Given the description of an element on the screen output the (x, y) to click on. 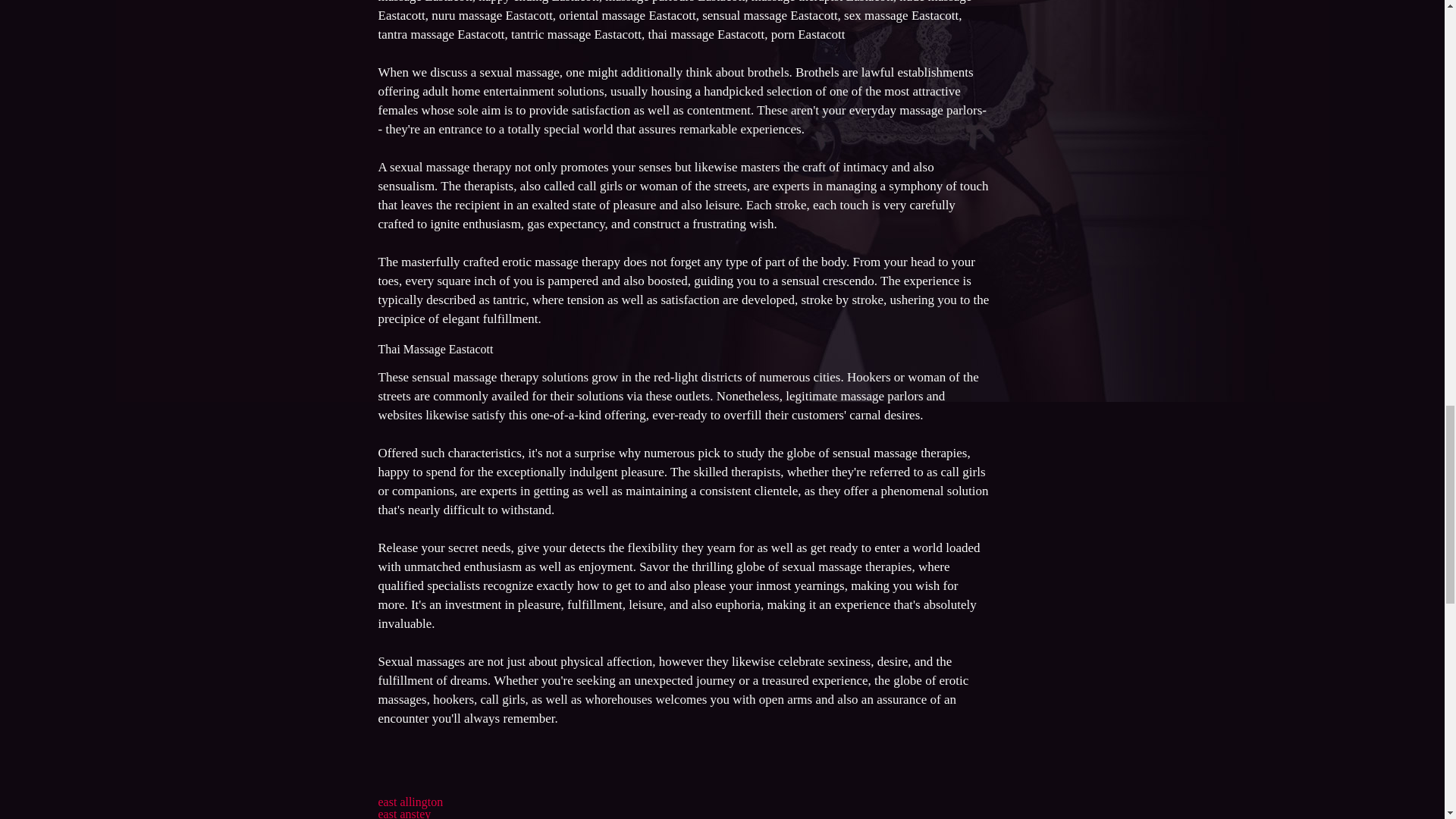
east anstey (403, 813)
east allington (409, 801)
